Given the description of an element on the screen output the (x, y) to click on. 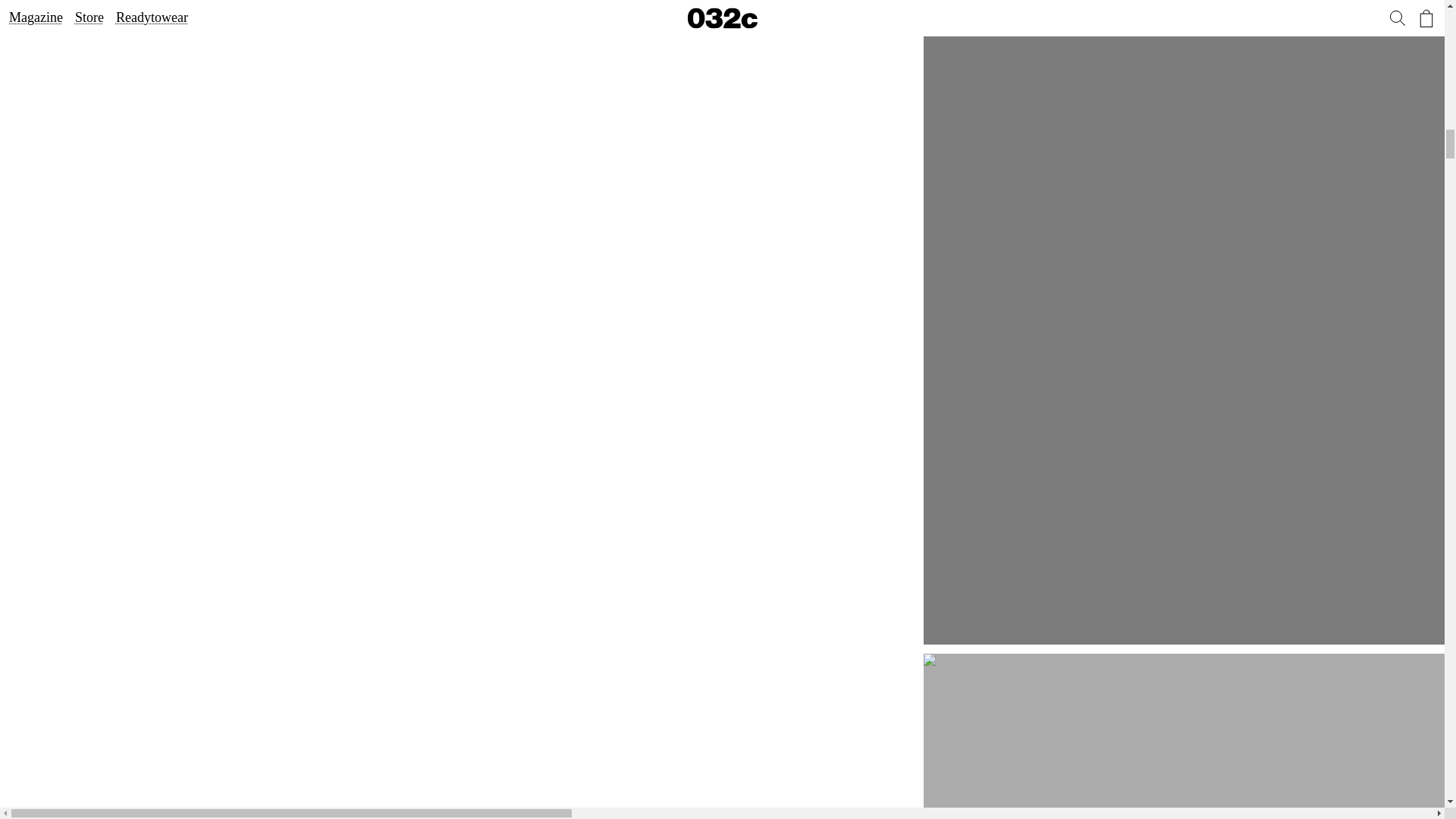
032c (1189, 736)
